Given the description of an element on the screen output the (x, y) to click on. 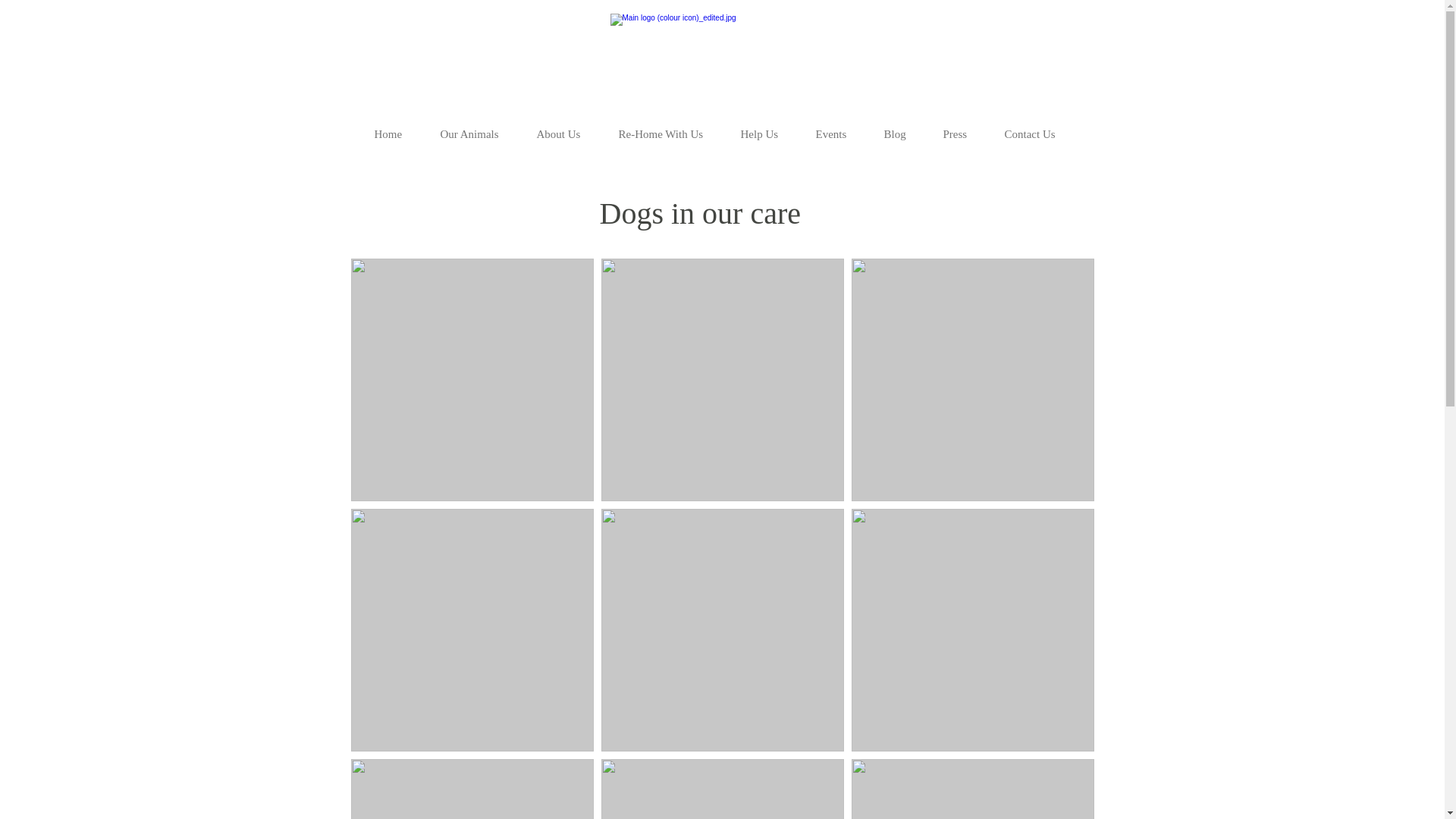
Events (837, 133)
About Us (565, 133)
Re-Home With Us (668, 133)
Home (395, 133)
Blog (901, 133)
Contact Us (1036, 133)
Press (961, 133)
